Given the description of an element on the screen output the (x, y) to click on. 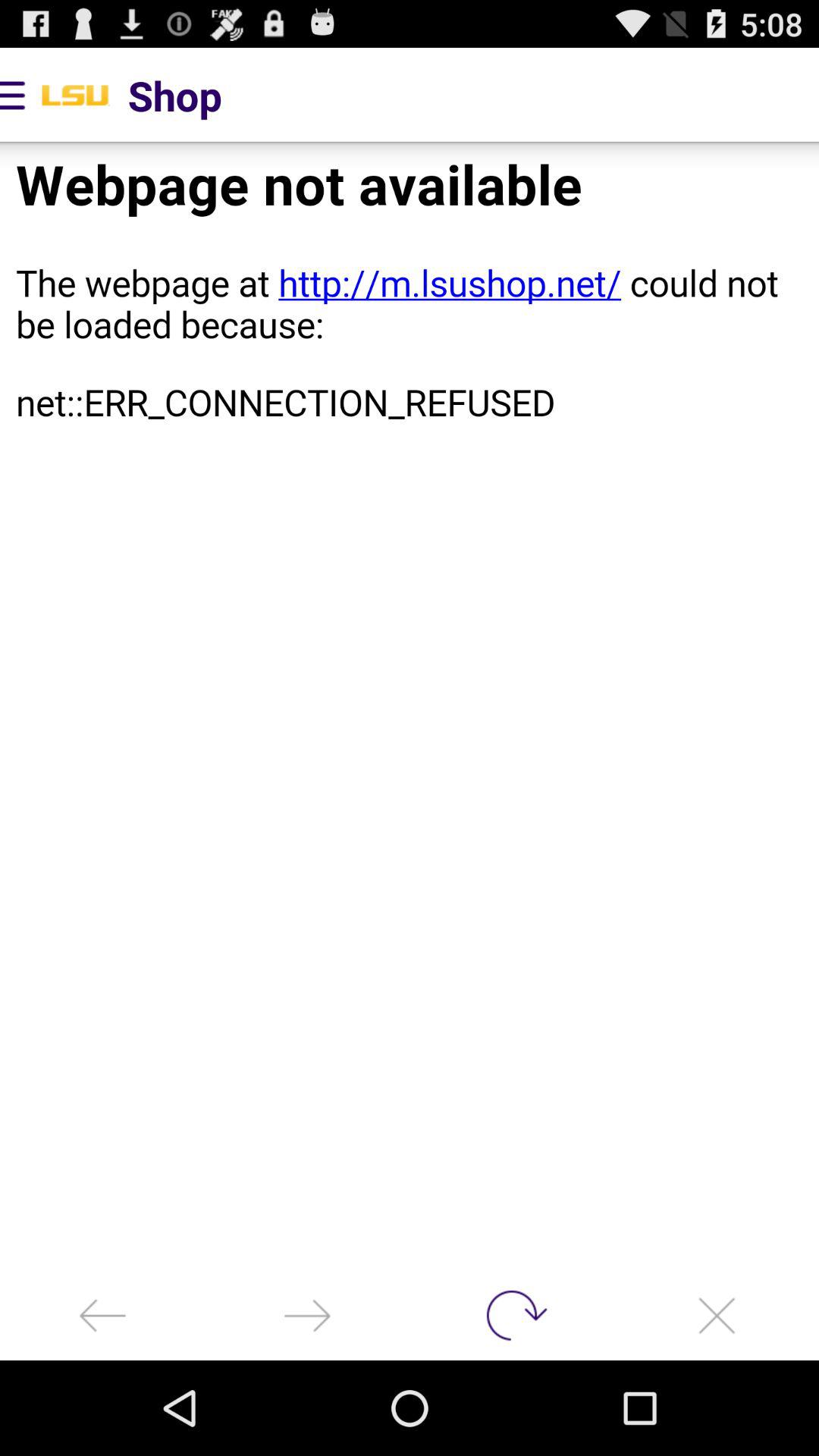
refresh button (511, 1315)
